Given the description of an element on the screen output the (x, y) to click on. 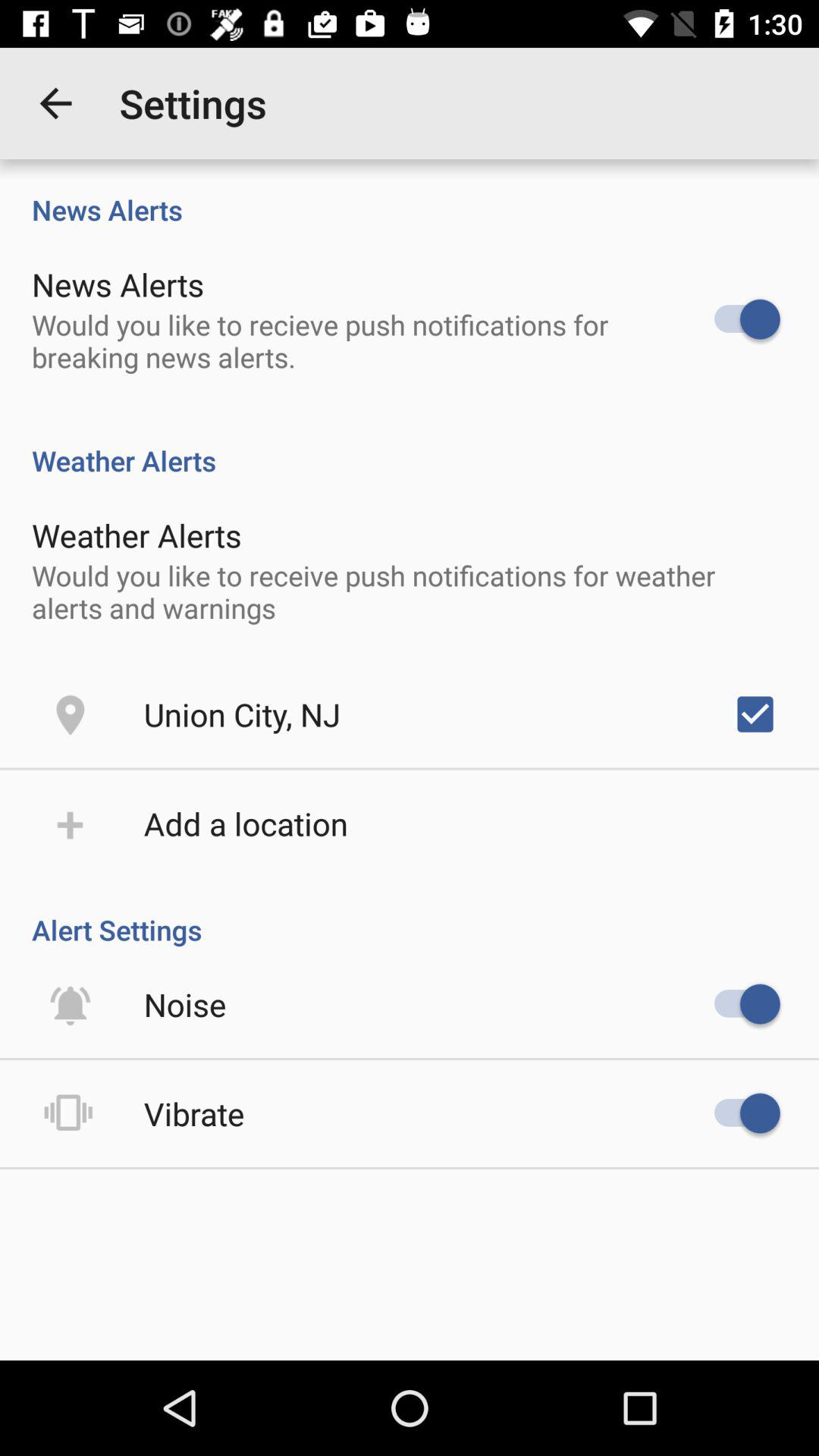
swipe to noise (184, 1004)
